Given the description of an element on the screen output the (x, y) to click on. 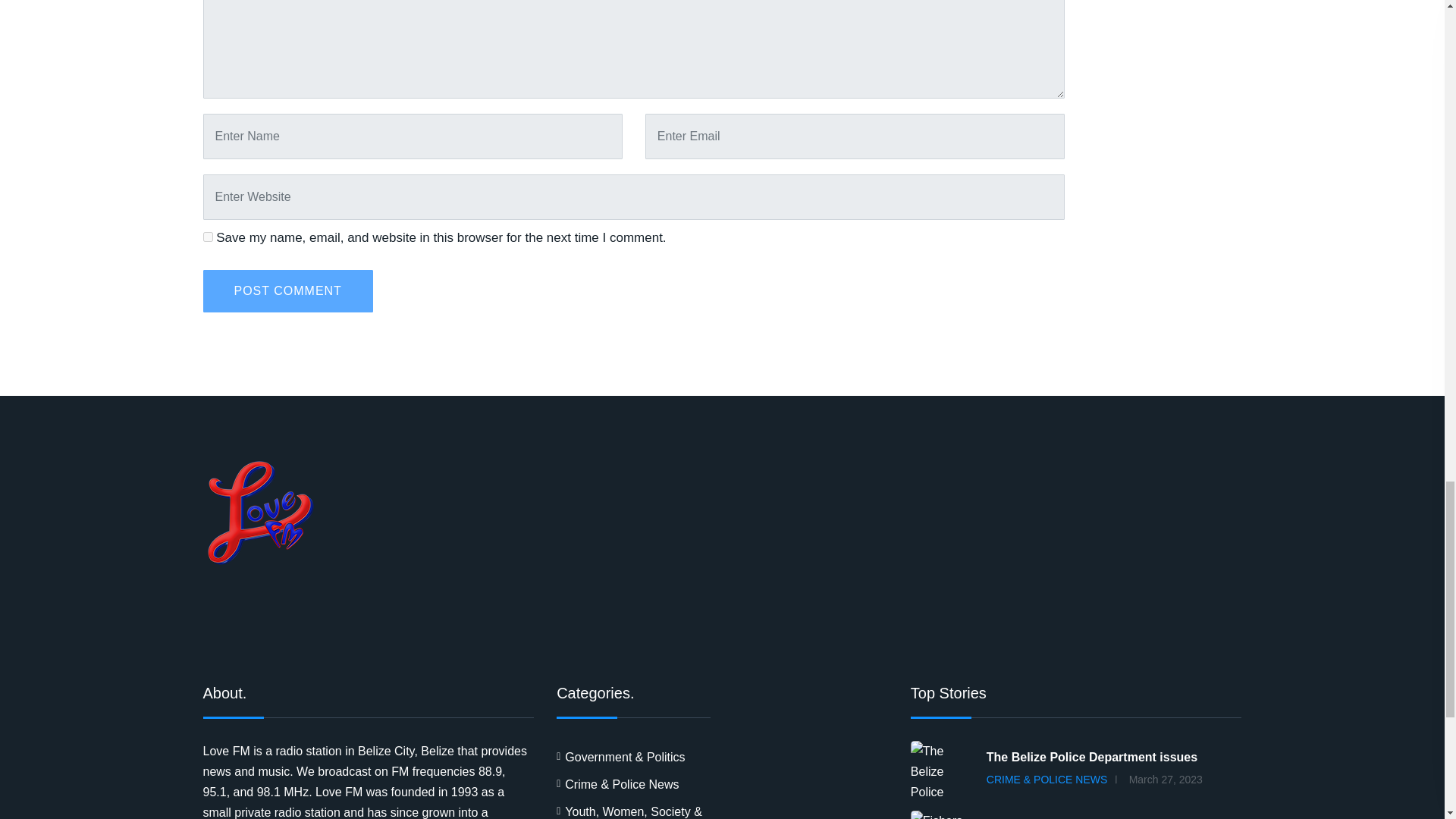
Post Comment (287, 291)
yes (207, 236)
